Given the description of an element on the screen output the (x, y) to click on. 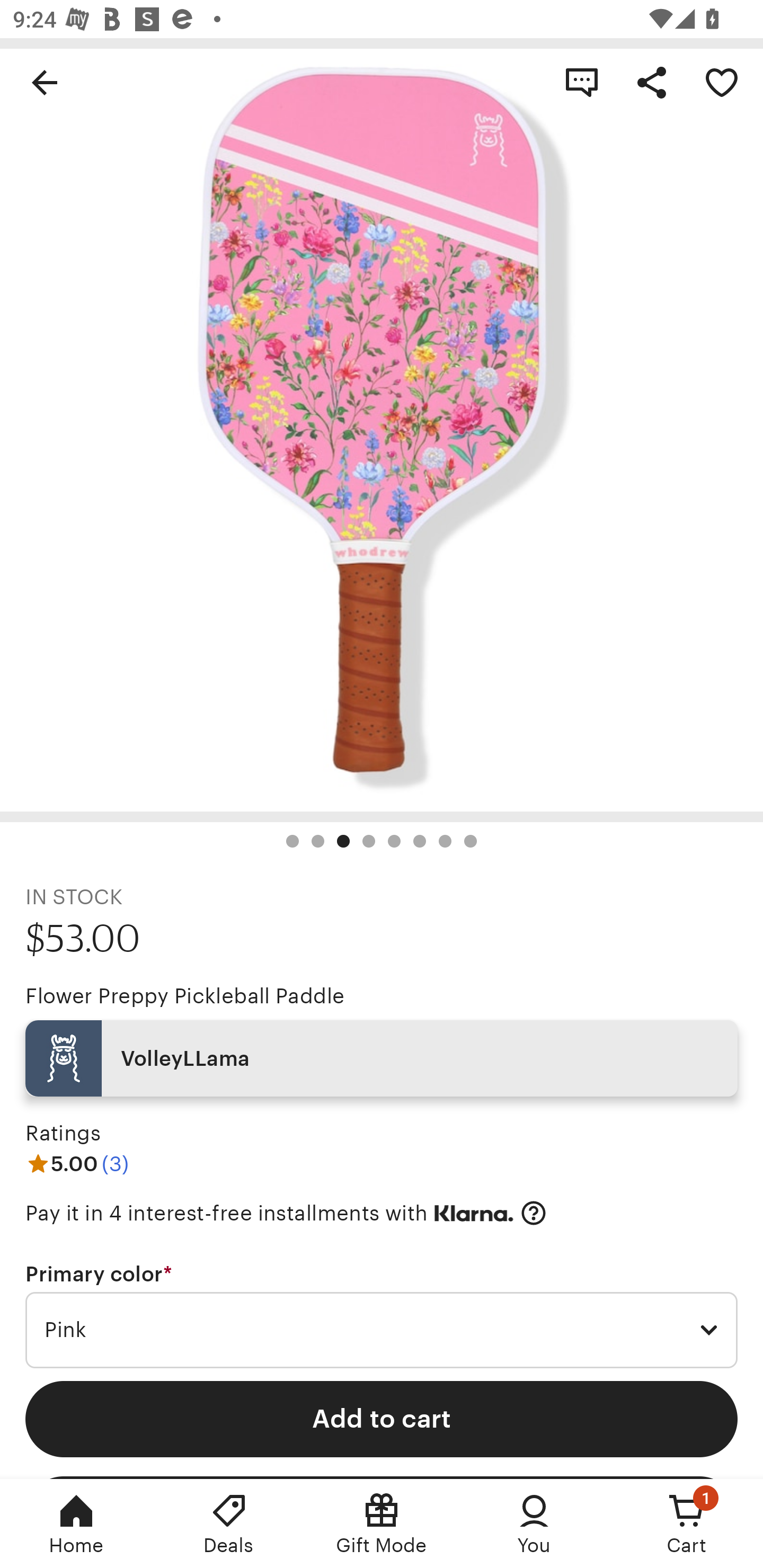
Navigate up (44, 81)
Contact shop (581, 81)
Share (651, 81)
Flower Preppy Pickleball Paddle (184, 996)
VolleyLLama (381, 1058)
Ratings (62, 1133)
5.00 (3) (76, 1163)
Primary color * Required Pink (381, 1315)
Pink (381, 1330)
Add to cart (381, 1418)
Deals (228, 1523)
Gift Mode (381, 1523)
You (533, 1523)
Cart, 1 new notification Cart (686, 1523)
